Given the description of an element on the screen output the (x, y) to click on. 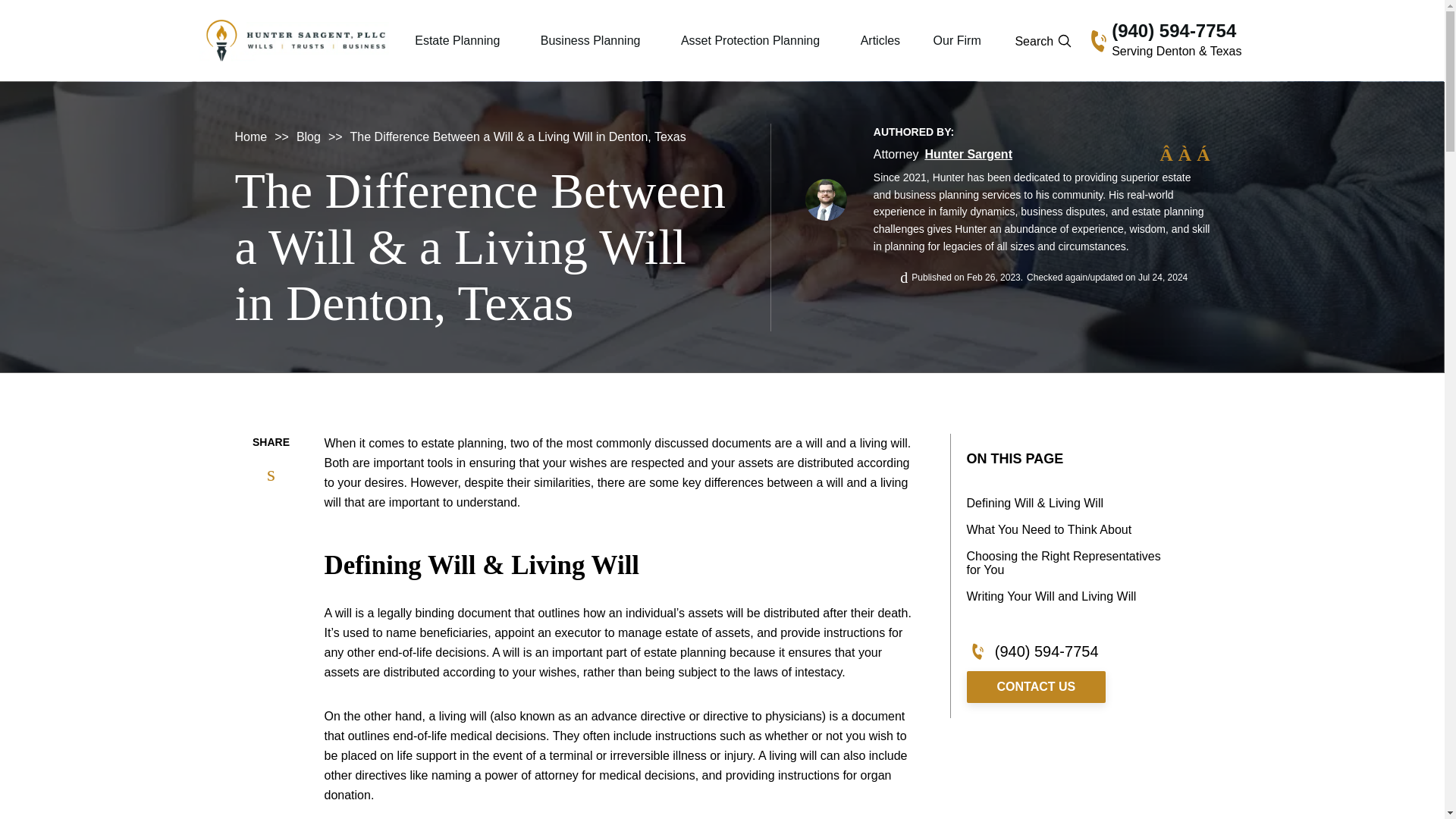
Home (250, 136)
Blog (308, 136)
Search (730, 137)
Business Planning (590, 40)
Hunter Sargent (967, 154)
Articles (879, 40)
Estate Planning (456, 40)
Asset Protection Planning (750, 40)
Our Firm (957, 40)
